Given the description of an element on the screen output the (x, y) to click on. 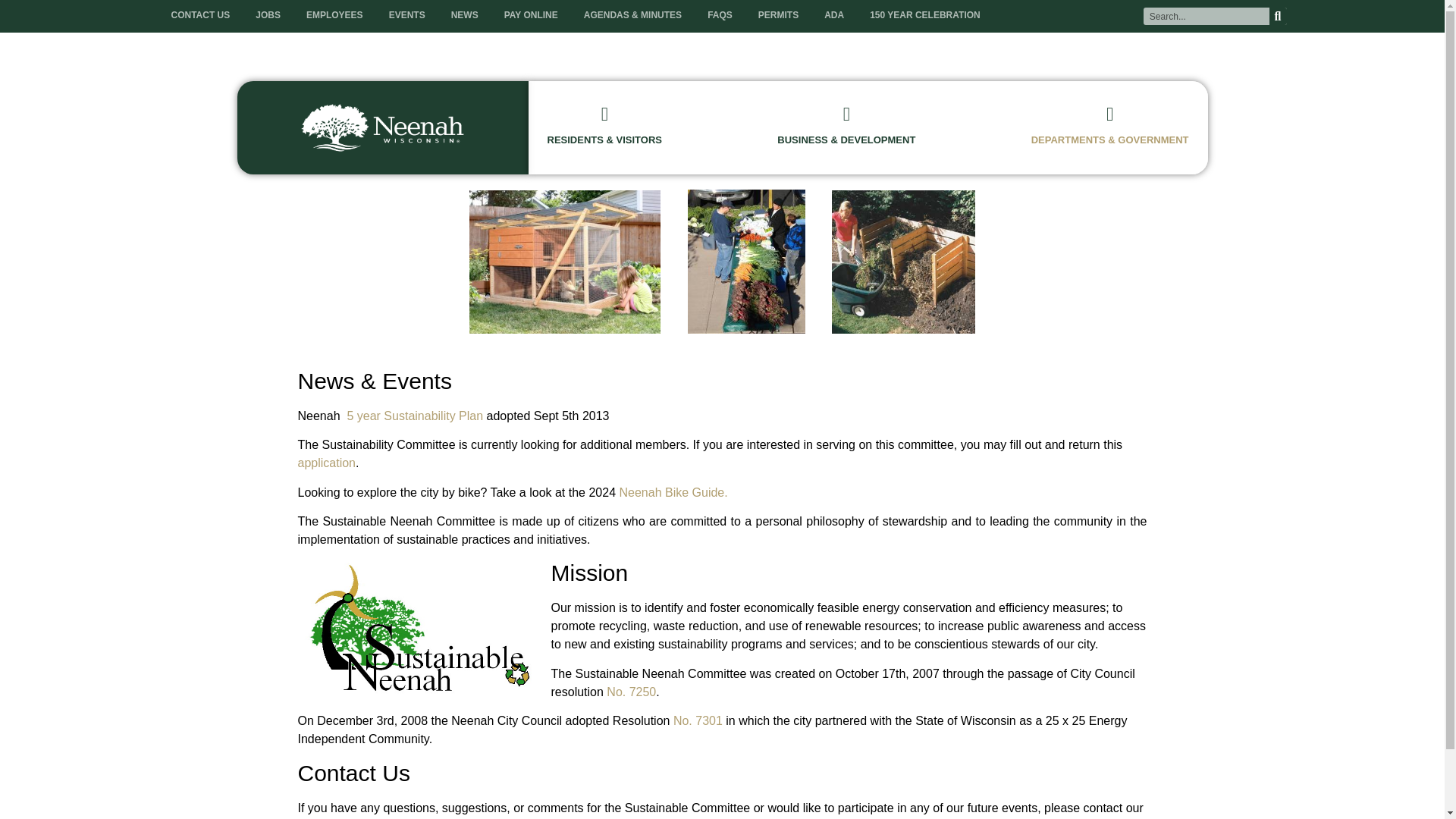
150 YEAR CELEBRATION (924, 14)
FAQS (719, 14)
PAY ONLINE (531, 14)
EVENTS (406, 14)
JOBS (268, 14)
CONTACT US (200, 14)
Search (1205, 16)
ADA (833, 14)
EMPLOYEES (334, 14)
Search (1278, 16)
NEWS (465, 14)
PERMITS (777, 14)
